Given the description of an element on the screen output the (x, y) to click on. 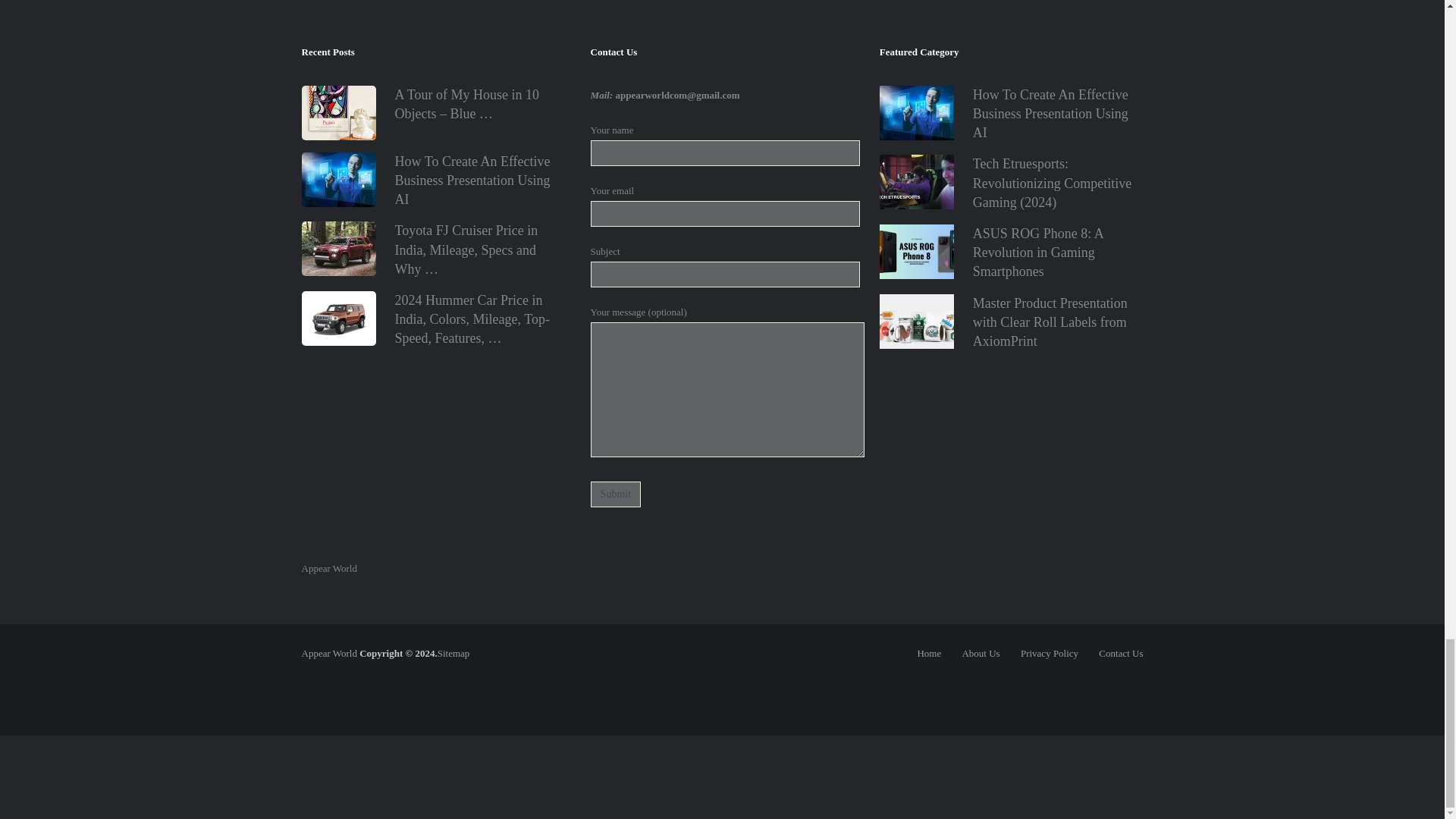
Submit (615, 493)
